Given the description of an element on the screen output the (x, y) to click on. 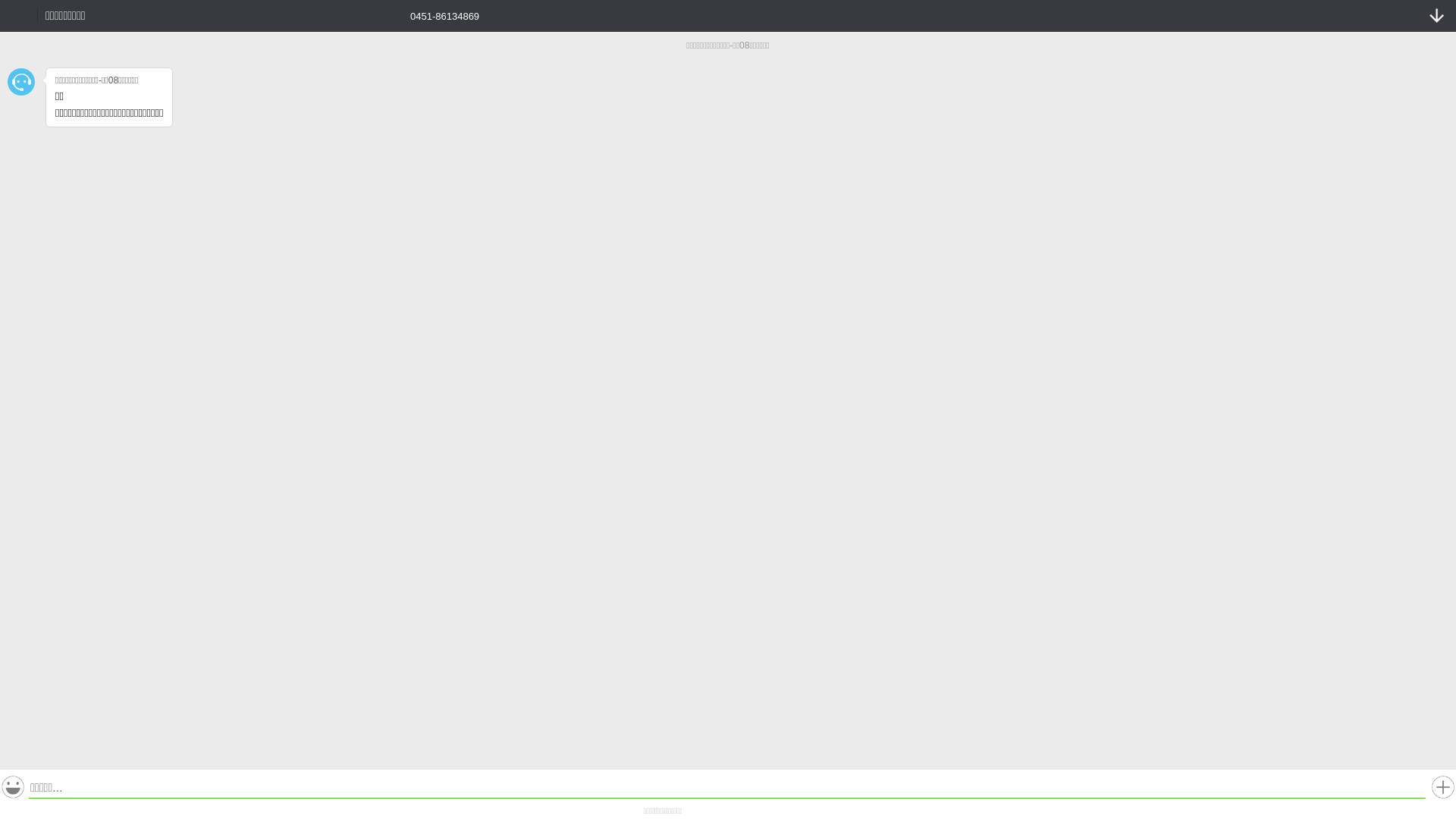
0451-86134869 Element type: text (433, 15)
